Given the description of an element on the screen output the (x, y) to click on. 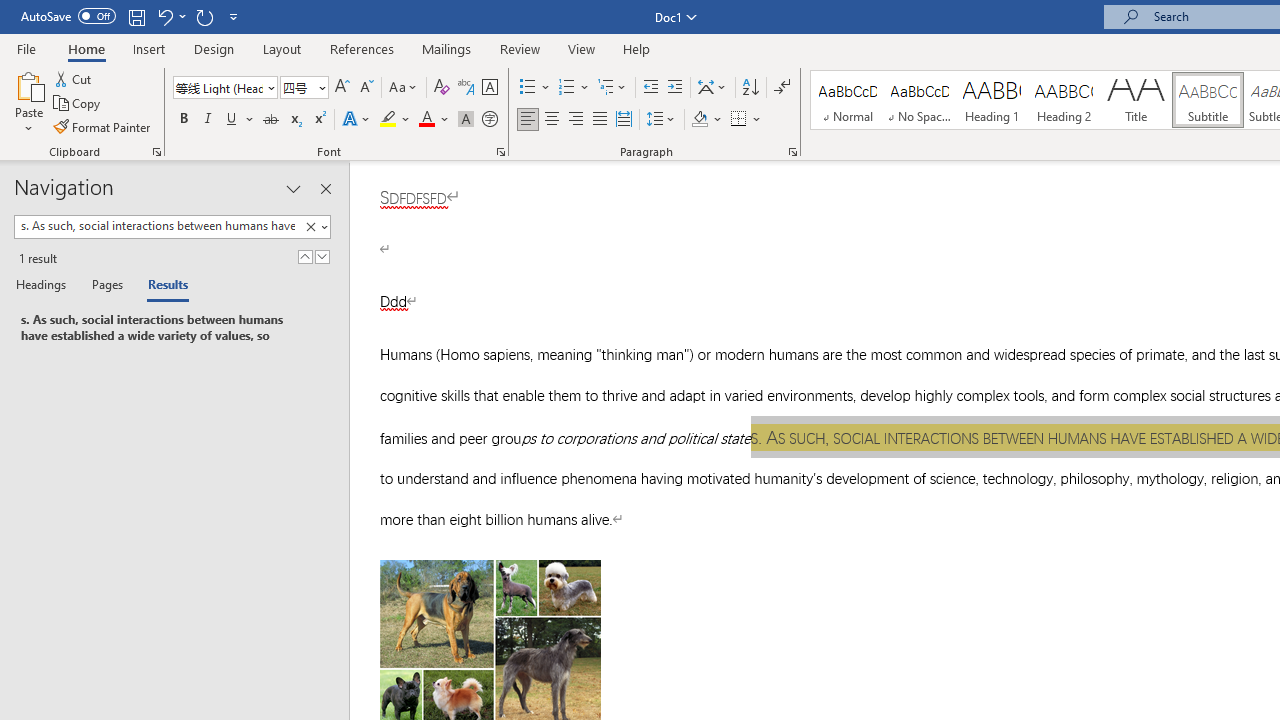
Save (136, 15)
Center (552, 119)
Help (637, 48)
Open (320, 87)
Format Painter (103, 126)
Heading 2 (1063, 100)
Italic (207, 119)
Font... (500, 151)
Sort... (750, 87)
Clear (314, 227)
Clear (310, 227)
Superscript (319, 119)
Bullets (535, 87)
Strikethrough (270, 119)
